Given the description of an element on the screen output the (x, y) to click on. 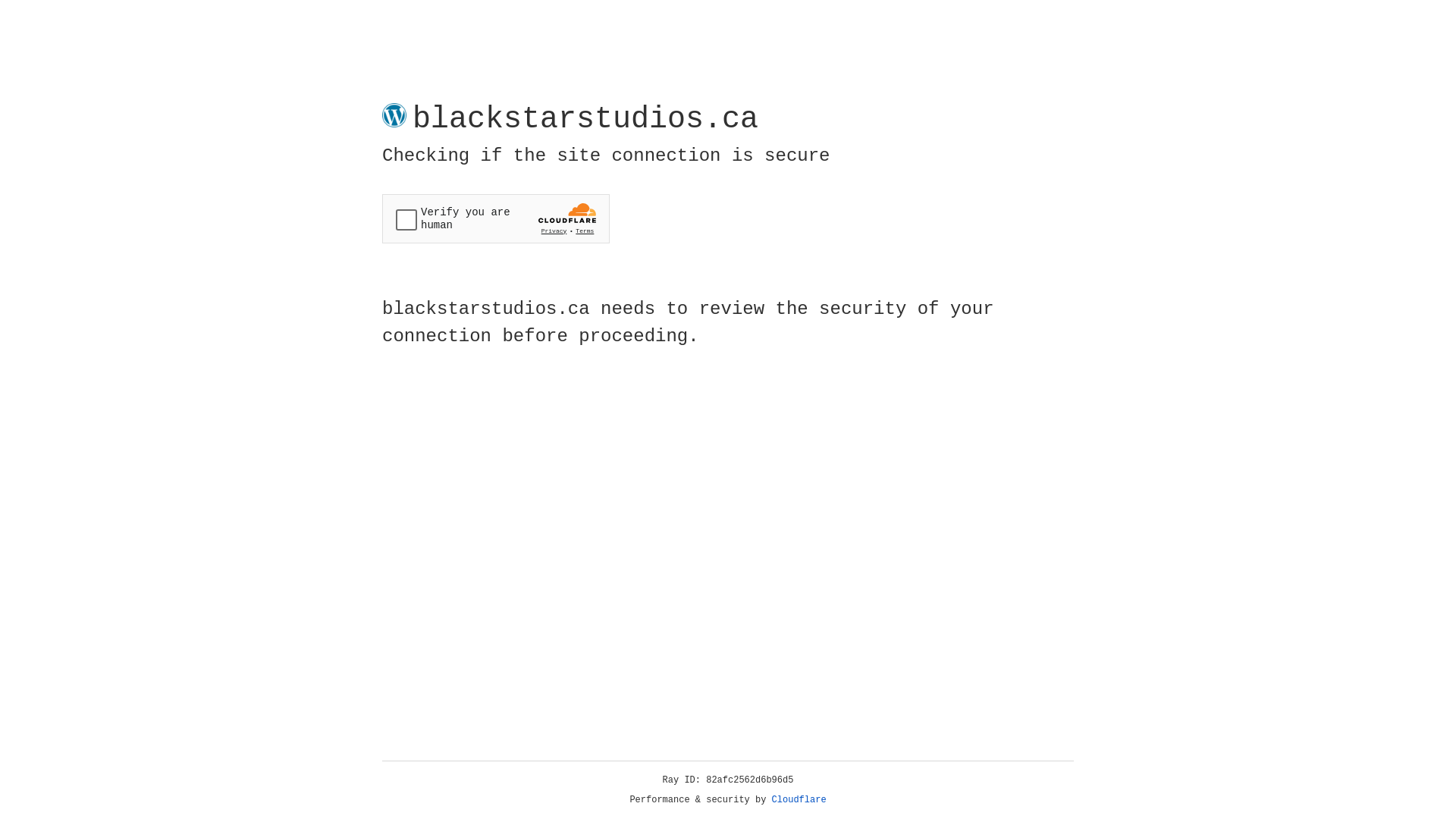
Cloudflare Element type: text (798, 799)
Widget containing a Cloudflare security challenge Element type: hover (495, 218)
